Given the description of an element on the screen output the (x, y) to click on. 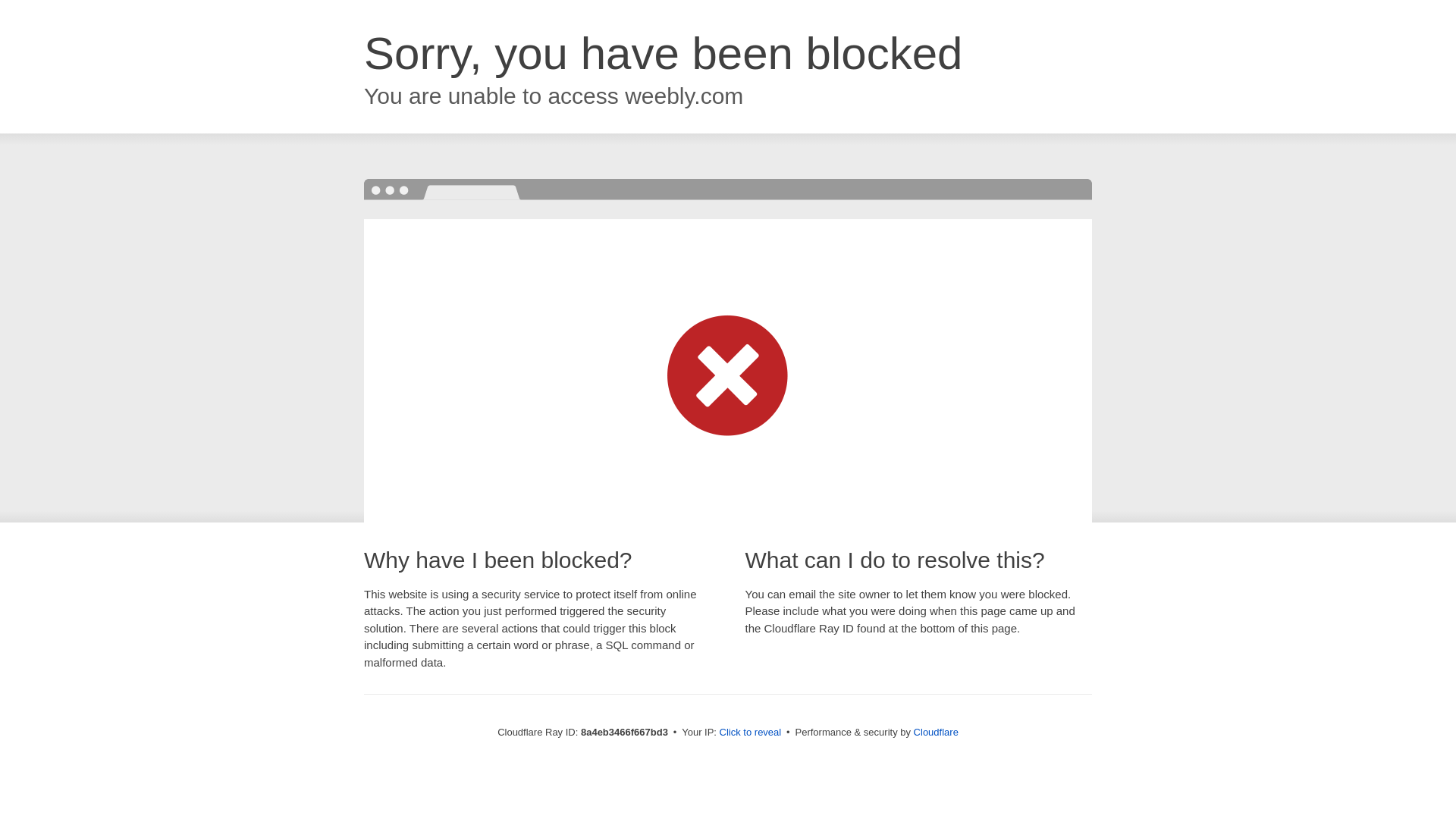
Cloudflare (936, 731)
Click to reveal (750, 732)
